Given the description of an element on the screen output the (x, y) to click on. 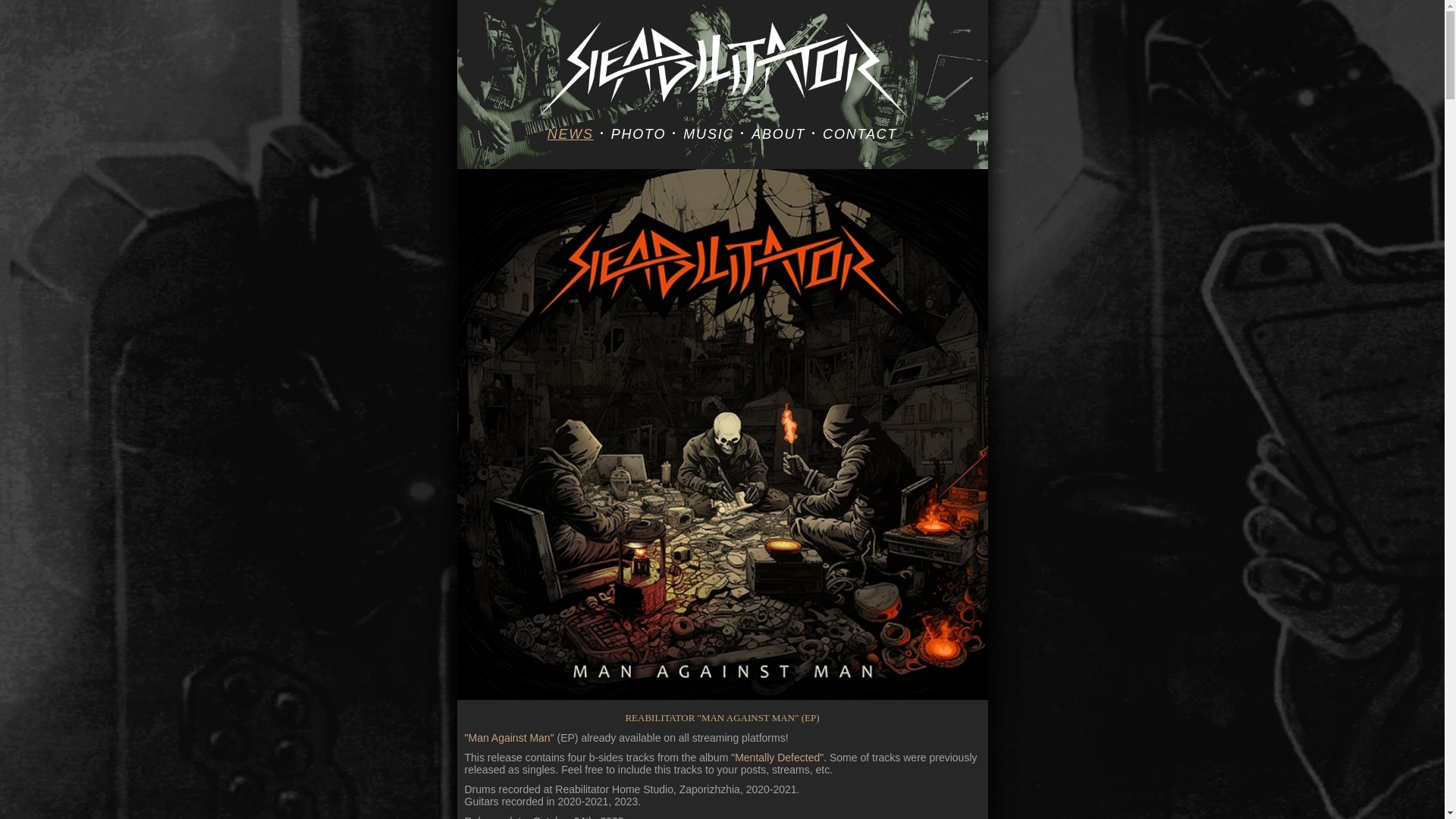
MUSIC Element type: text (708, 134)
ABOUT Element type: text (778, 134)
CONTACT Element type: text (859, 134)
PHOTO Element type: text (638, 134)
NEWS Element type: text (570, 134)
